Given the description of an element on the screen output the (x, y) to click on. 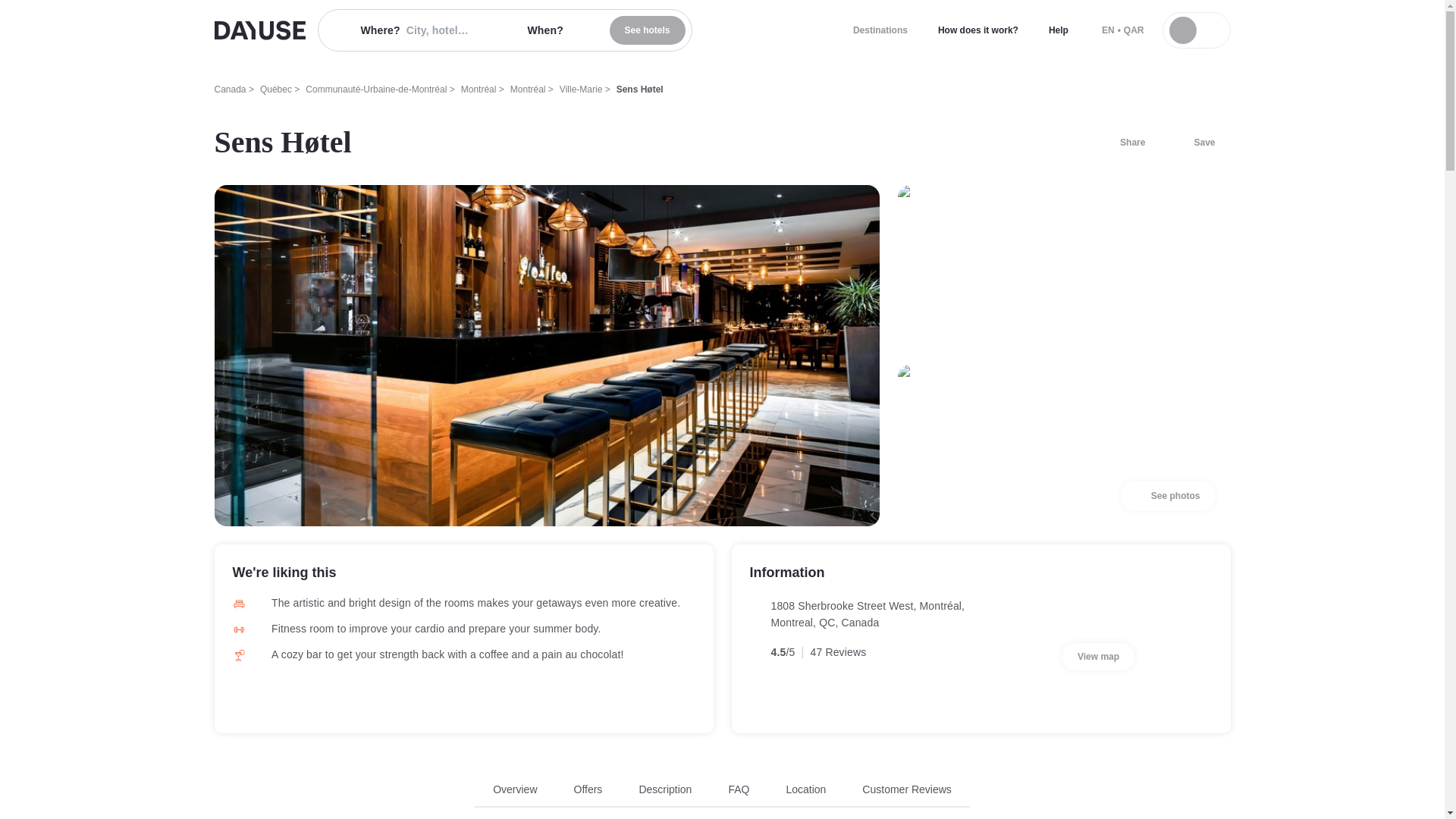
Destinations (880, 30)
Help (721, 794)
See photos (1058, 30)
Dayuse (1168, 495)
Ville-Marie (259, 29)
Offers (580, 89)
Location (587, 789)
Description (805, 789)
Customer Reviews (665, 789)
See hotels (905, 789)
Save (647, 30)
View map (1195, 142)
Overview (1098, 656)
Canada (515, 789)
